Given the description of an element on the screen output the (x, y) to click on. 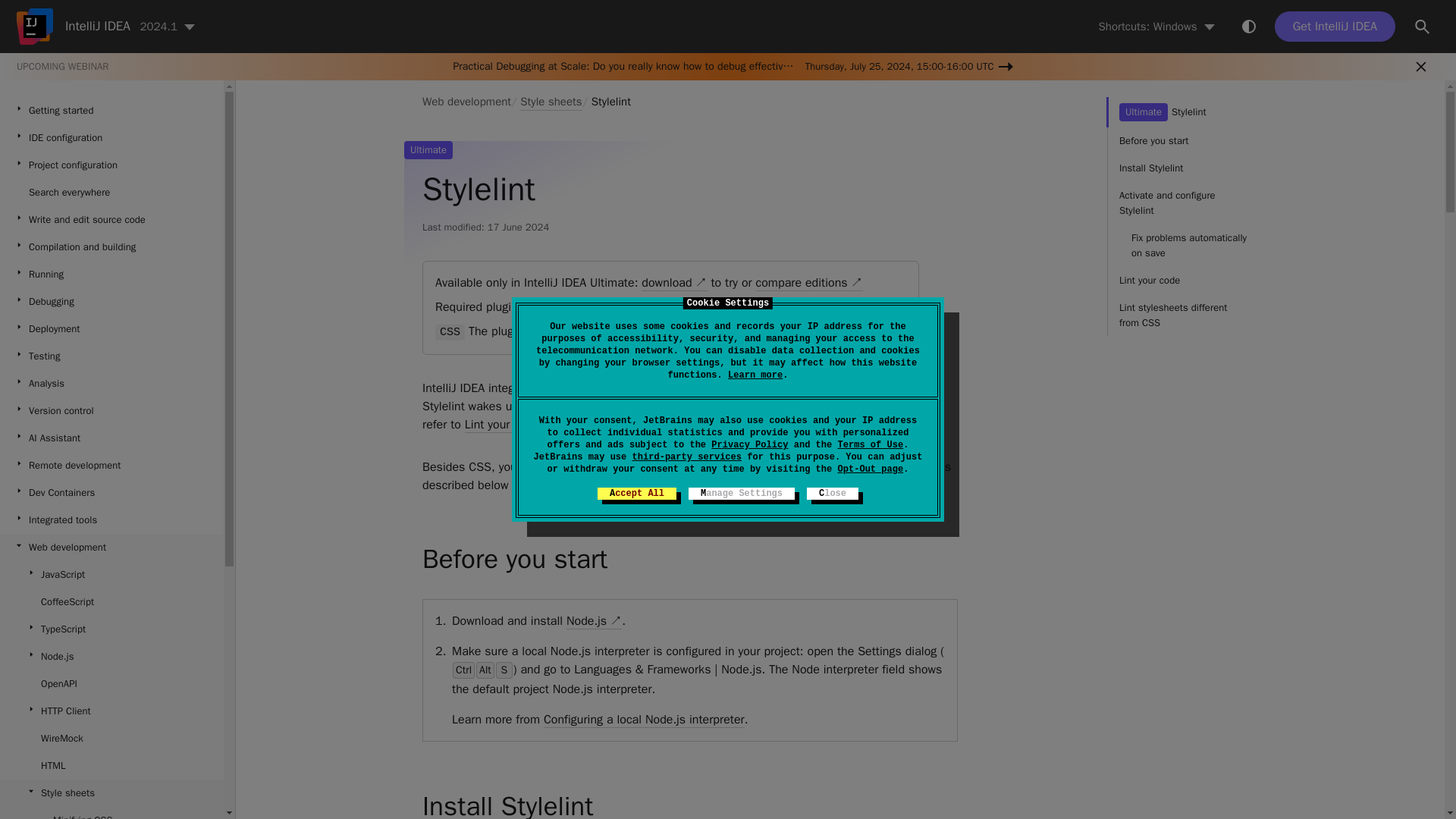
CoffeeScript (112, 601)
OpenAPI (112, 683)
WireMock (112, 738)
IDE configuration (112, 137)
Project configuration (112, 165)
HTTP Client (112, 710)
Testing (112, 356)
Deployment (112, 329)
AI Assistant (112, 438)
Get IntelliJ IDEA (1334, 26)
Compilation and building (112, 247)
Search everywhere (112, 192)
TypeScript (112, 628)
HTML (112, 765)
Switch theme (1248, 26)
